Given the description of an element on the screen output the (x, y) to click on. 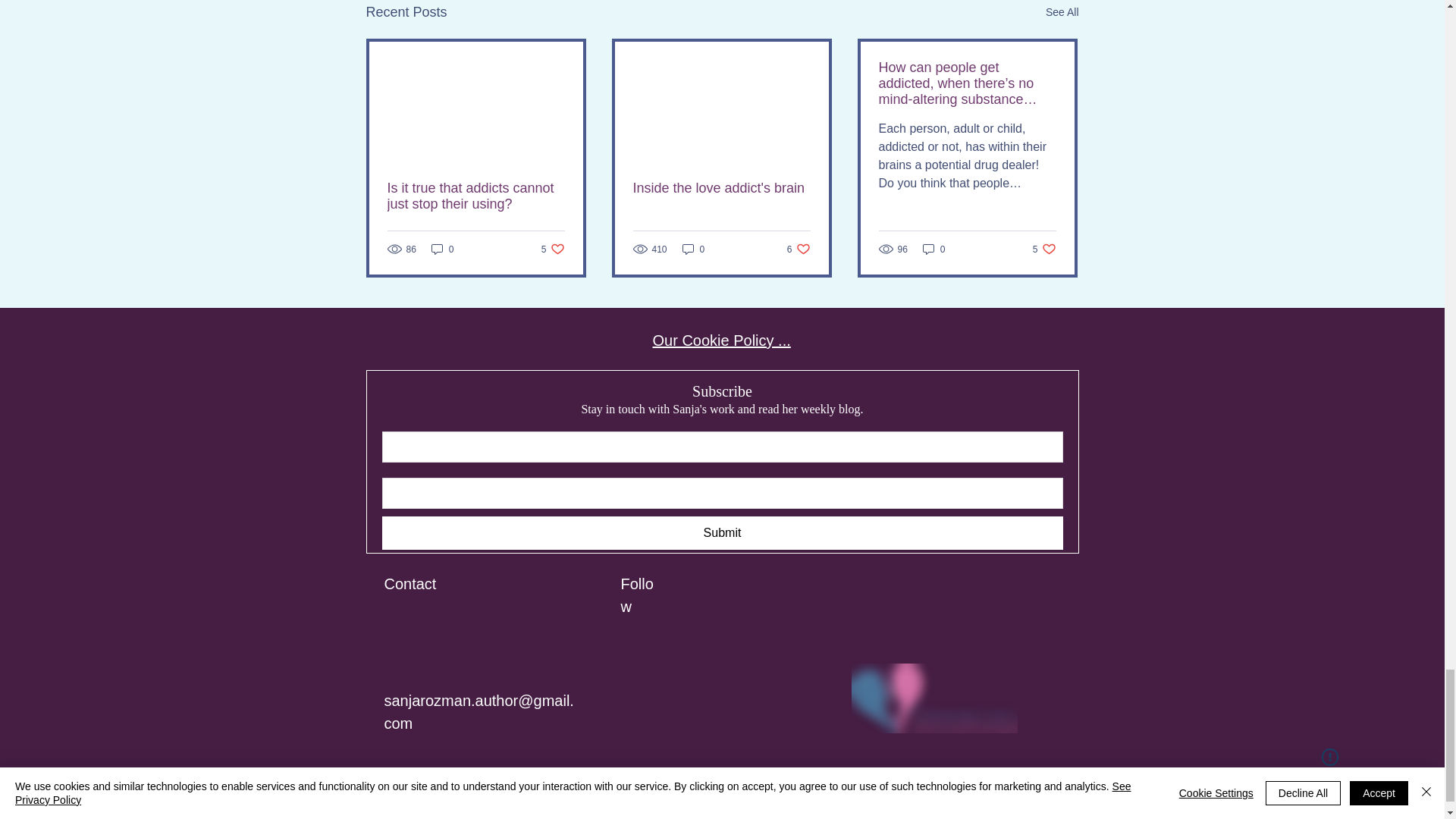
0 (442, 248)
Is it true that addicts cannot just stop their using? (475, 196)
See All (552, 248)
